Given the description of an element on the screen output the (x, y) to click on. 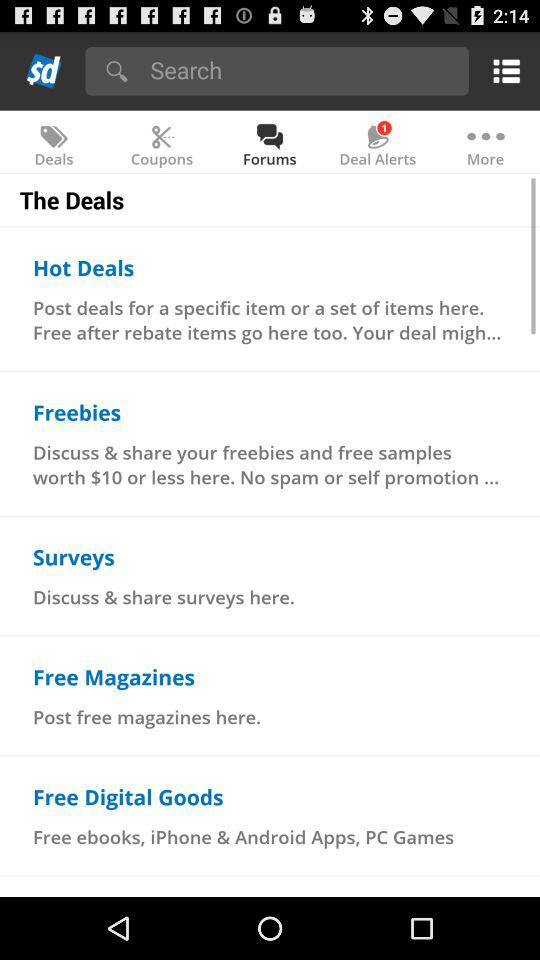
open main menu (502, 70)
